Given the description of an element on the screen output the (x, y) to click on. 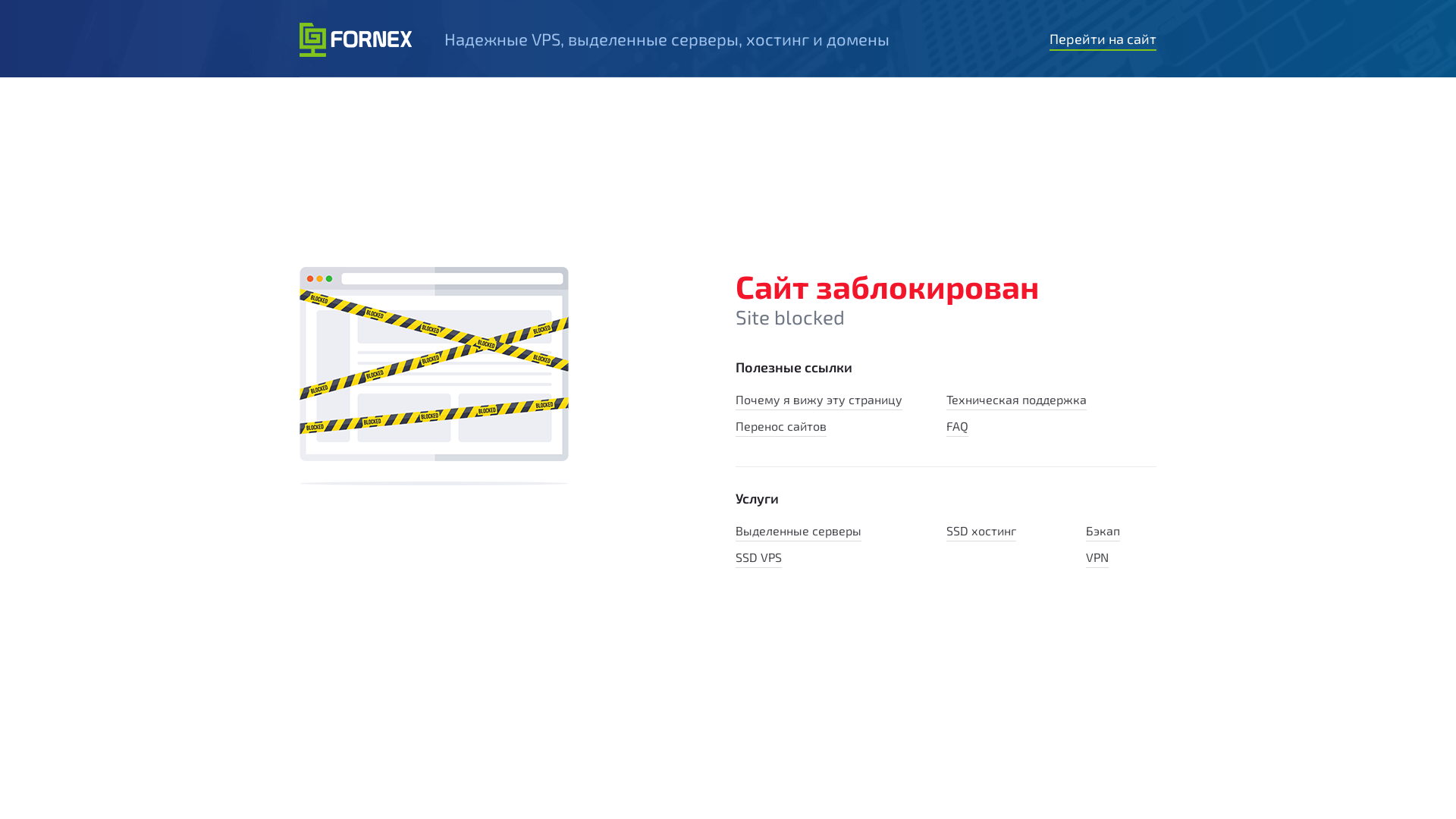
VPN Element type: text (1096, 558)
SSD VPS Element type: text (758, 558)
FAQ Element type: text (957, 427)
